Given the description of an element on the screen output the (x, y) to click on. 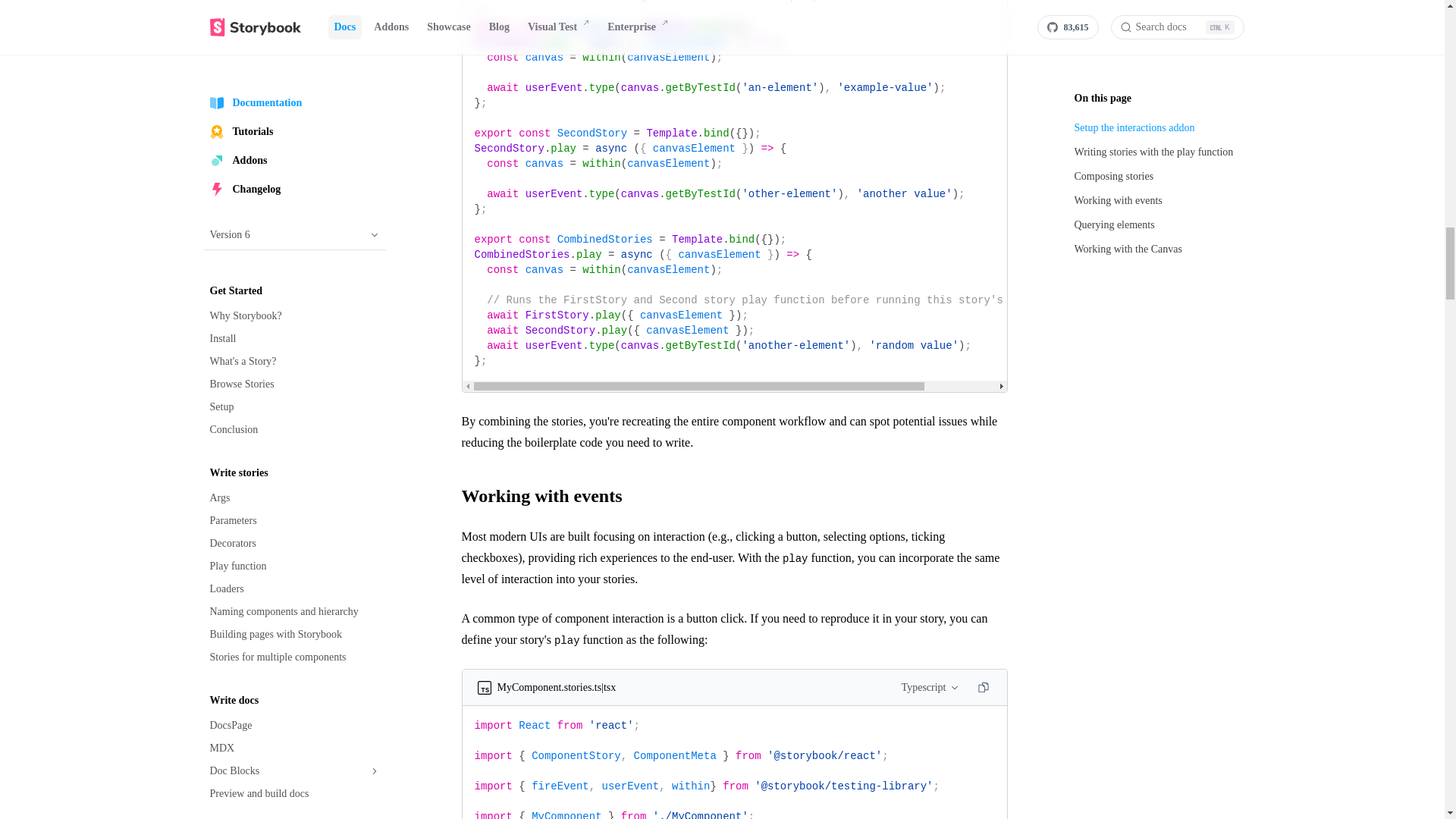
Working with events (734, 495)
